Given the description of an element on the screen output the (x, y) to click on. 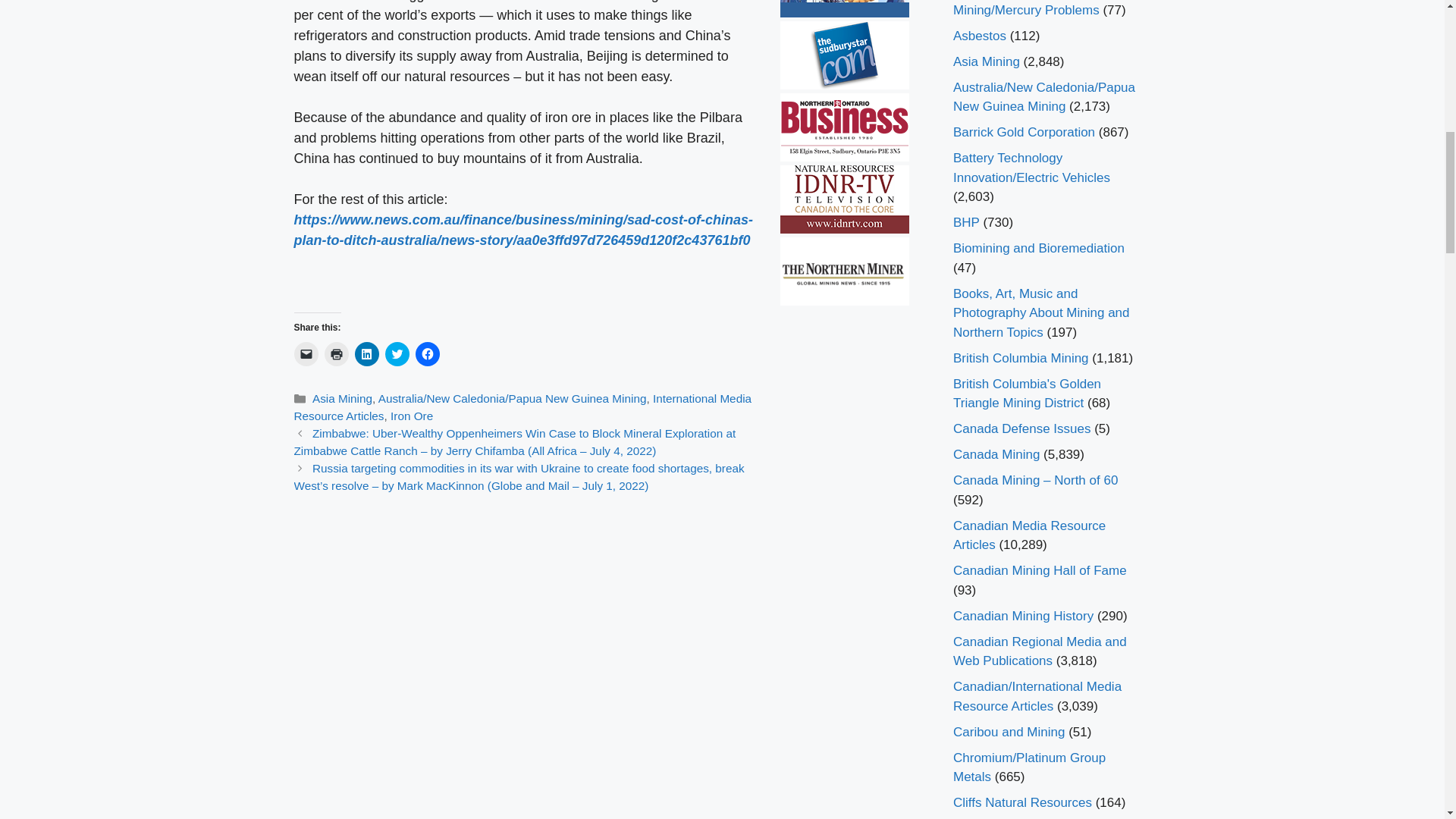
Click to email a link to a friend (306, 354)
Scroll back to top (1406, 720)
Click to print (336, 354)
Click to share on LinkedIn (366, 354)
Click to share on Facebook (426, 354)
Click to share on Twitter (397, 354)
